Given the description of an element on the screen output the (x, y) to click on. 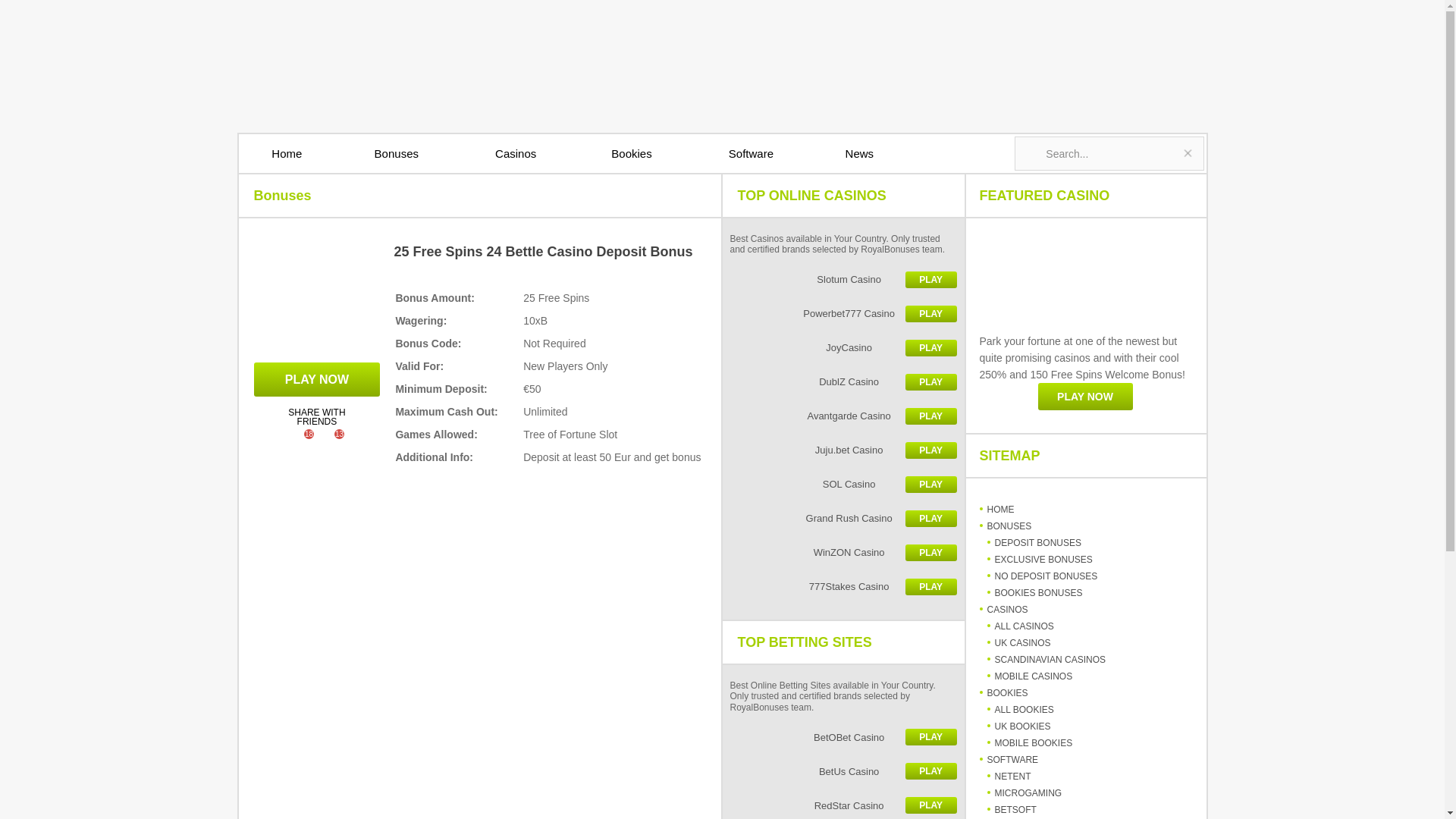
PLAY (930, 347)
13 (331, 441)
Home (286, 153)
News (858, 153)
18 (301, 441)
PLAY (930, 450)
Bonuses (395, 153)
PLAY (930, 279)
Software (750, 153)
Bookies (630, 153)
Slotum Casino (814, 279)
PLAY (930, 313)
Casinos (515, 153)
PLAY (930, 416)
DublZ Casino (814, 382)
